Given the description of an element on the screen output the (x, y) to click on. 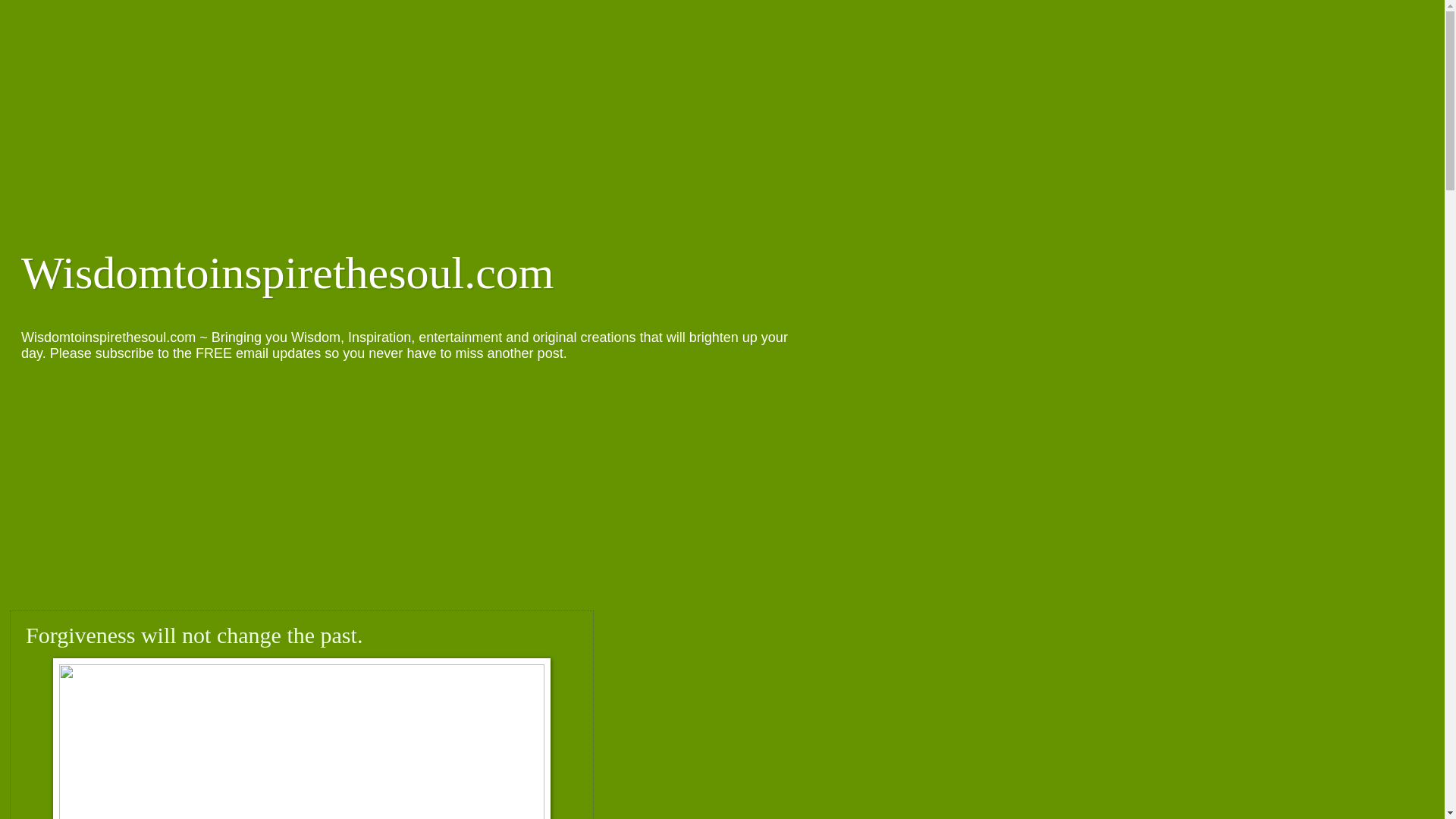
Wisdomtoinspirethesoul.com (287, 273)
